Given the description of an element on the screen output the (x, y) to click on. 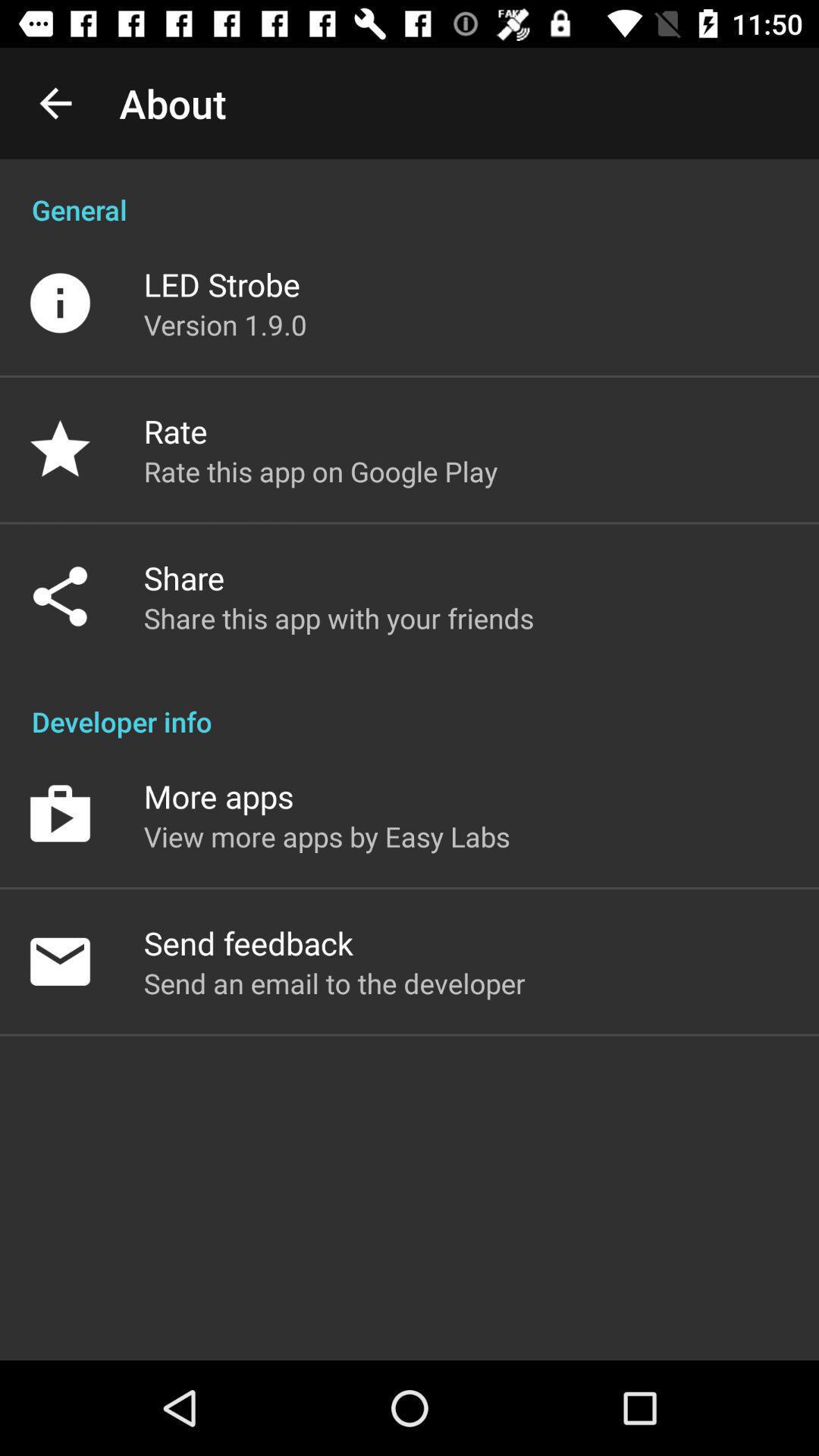
select the led strobe item (221, 283)
